Given the description of an element on the screen output the (x, y) to click on. 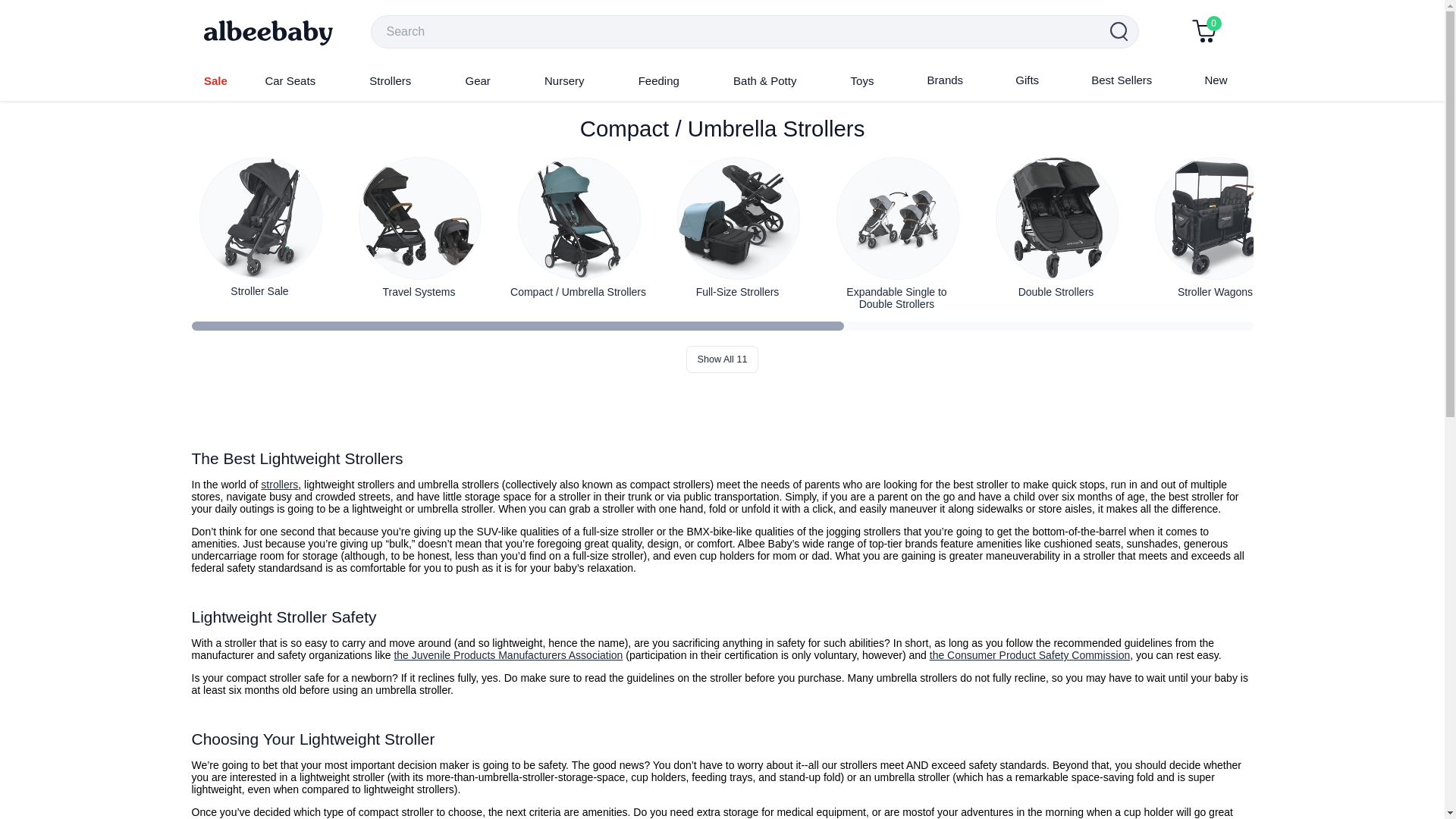
Sale (215, 80)
0 (1203, 32)
Car Seats (290, 80)
